Given the description of an element on the screen output the (x, y) to click on. 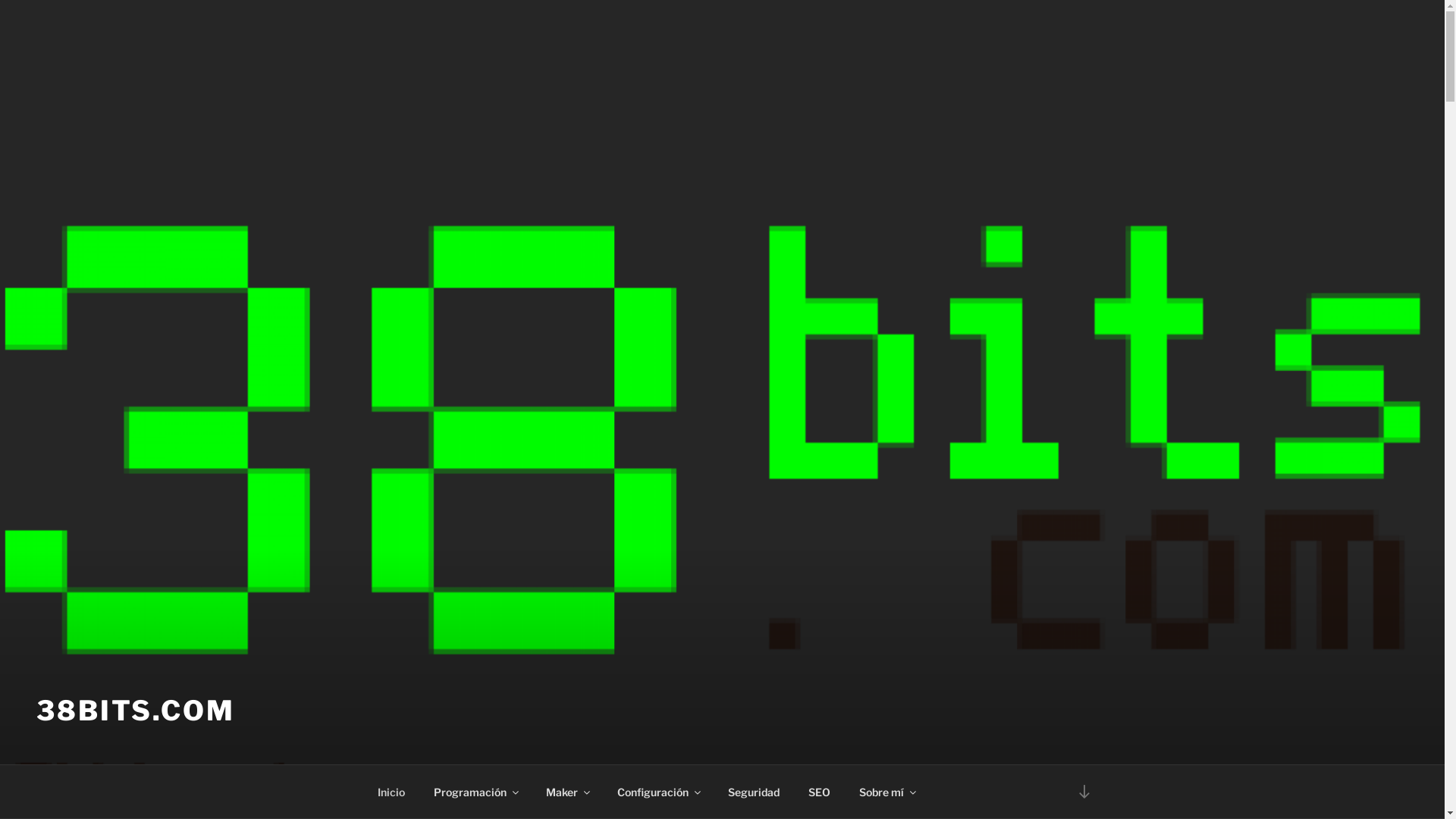
Seguridad Element type: text (753, 791)
Inicio Element type: text (390, 791)
SEO Element type: text (818, 791)
38BITS.COM Element type: text (135, 710)
Desplazarse al contenido Element type: text (1083, 790)
Maker Element type: text (566, 791)
